Given the description of an element on the screen output the (x, y) to click on. 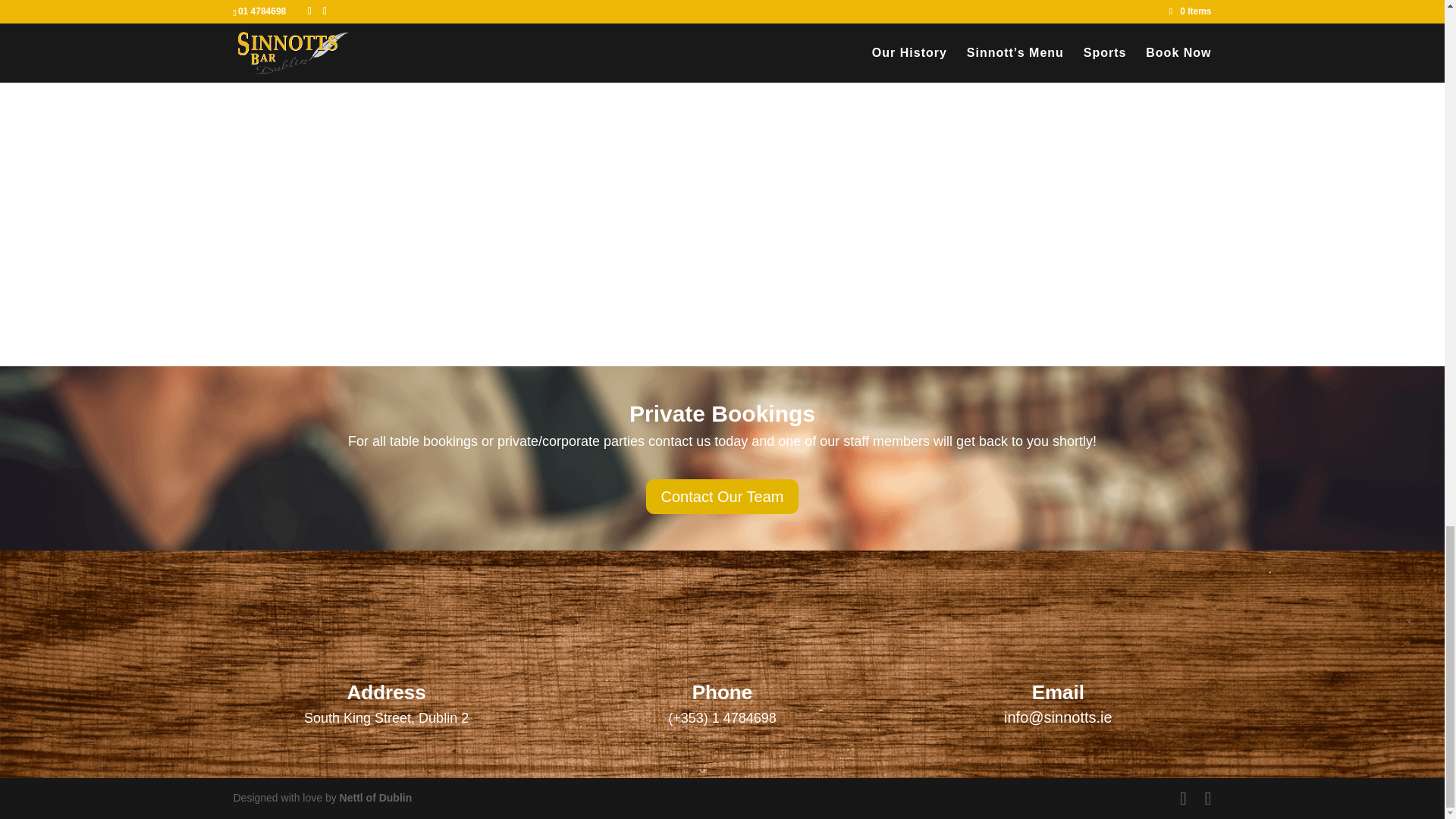
Contact Our Team (722, 496)
Nettl of Dublin (375, 797)
